Given the description of an element on the screen output the (x, y) to click on. 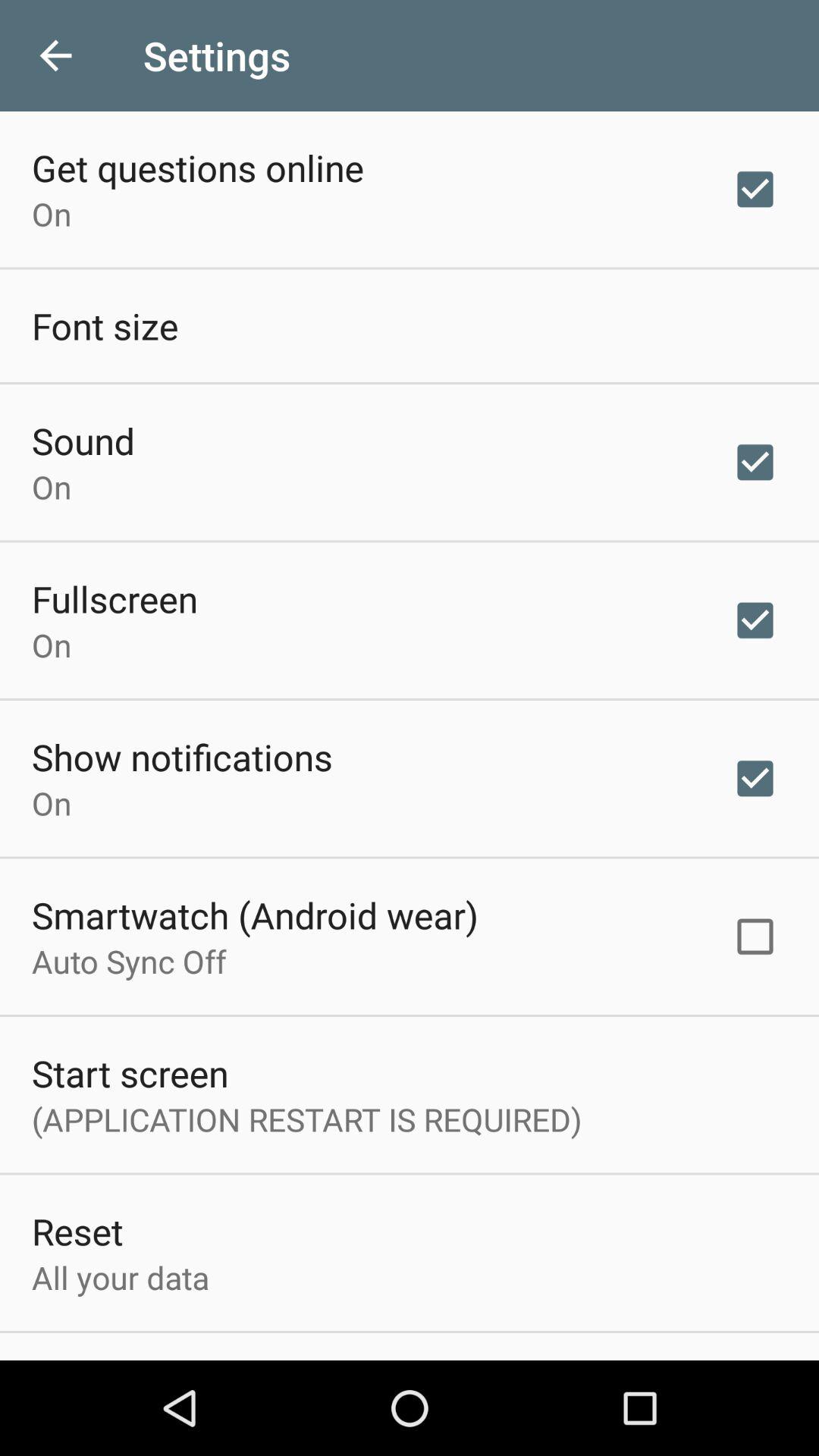
open the icon next to settings (55, 55)
